Given the description of an element on the screen output the (x, y) to click on. 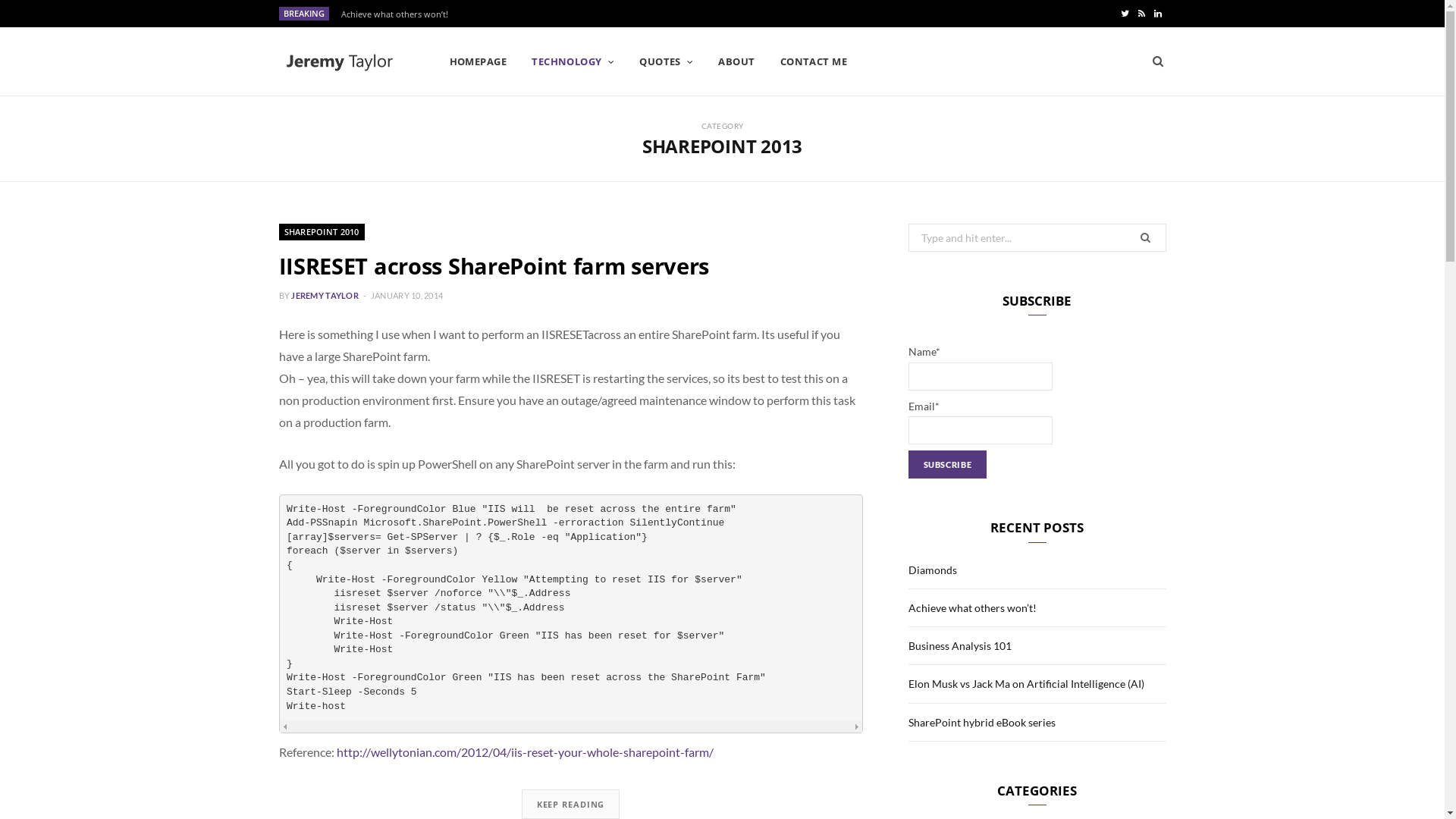
SHAREPOINT 2010 Element type: text (321, 231)
Diamonds Element type: text (365, 14)
Elon Musk vs Jack Ma on Artificial Intelligence (AI) Element type: text (1026, 683)
JEREMY TAYLOR Element type: text (324, 295)
LinkedIn Element type: text (1157, 13)
Search for: Element type: hover (1037, 237)
Twitter Element type: text (1124, 13)
QUOTES Element type: text (665, 61)
ABOUT Element type: text (735, 61)
SharePoint hybrid eBook series Element type: text (981, 721)
Subscribe Element type: text (947, 464)
HOMEPAGE Element type: text (478, 61)
Search Element type: hover (1157, 61)
IISRESET across SharePoint farm servers Element type: text (494, 265)
TECHNOLOGY Element type: text (572, 61)
JANUARY 10, 2014 Element type: text (406, 295)
Jeremy Taylor Element type: hover (339, 62)
CONTACT ME Element type: text (813, 61)
Diamonds Element type: text (932, 569)
Business Analysis 101 Element type: text (959, 645)
RSS Element type: text (1140, 13)
